Given the description of an element on the screen output the (x, y) to click on. 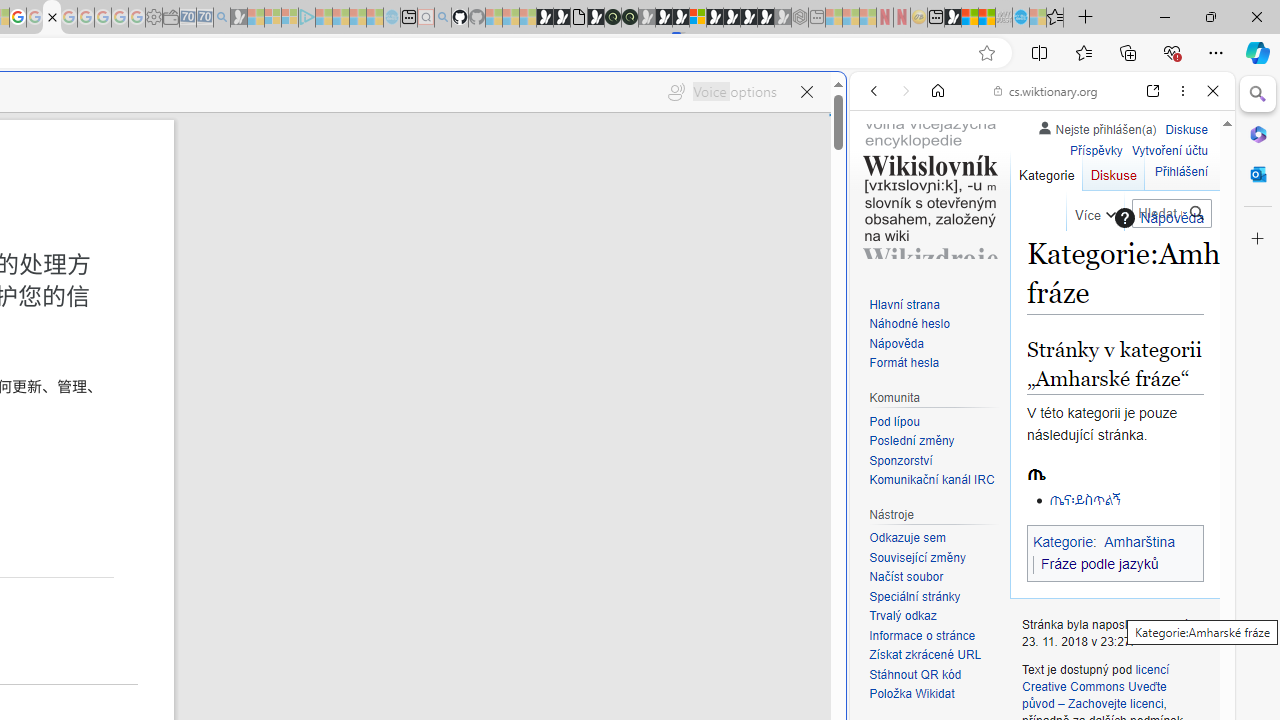
Class: b_serphb (1190, 229)
github - Search - Sleeping (442, 17)
